Given the description of an element on the screen output the (x, y) to click on. 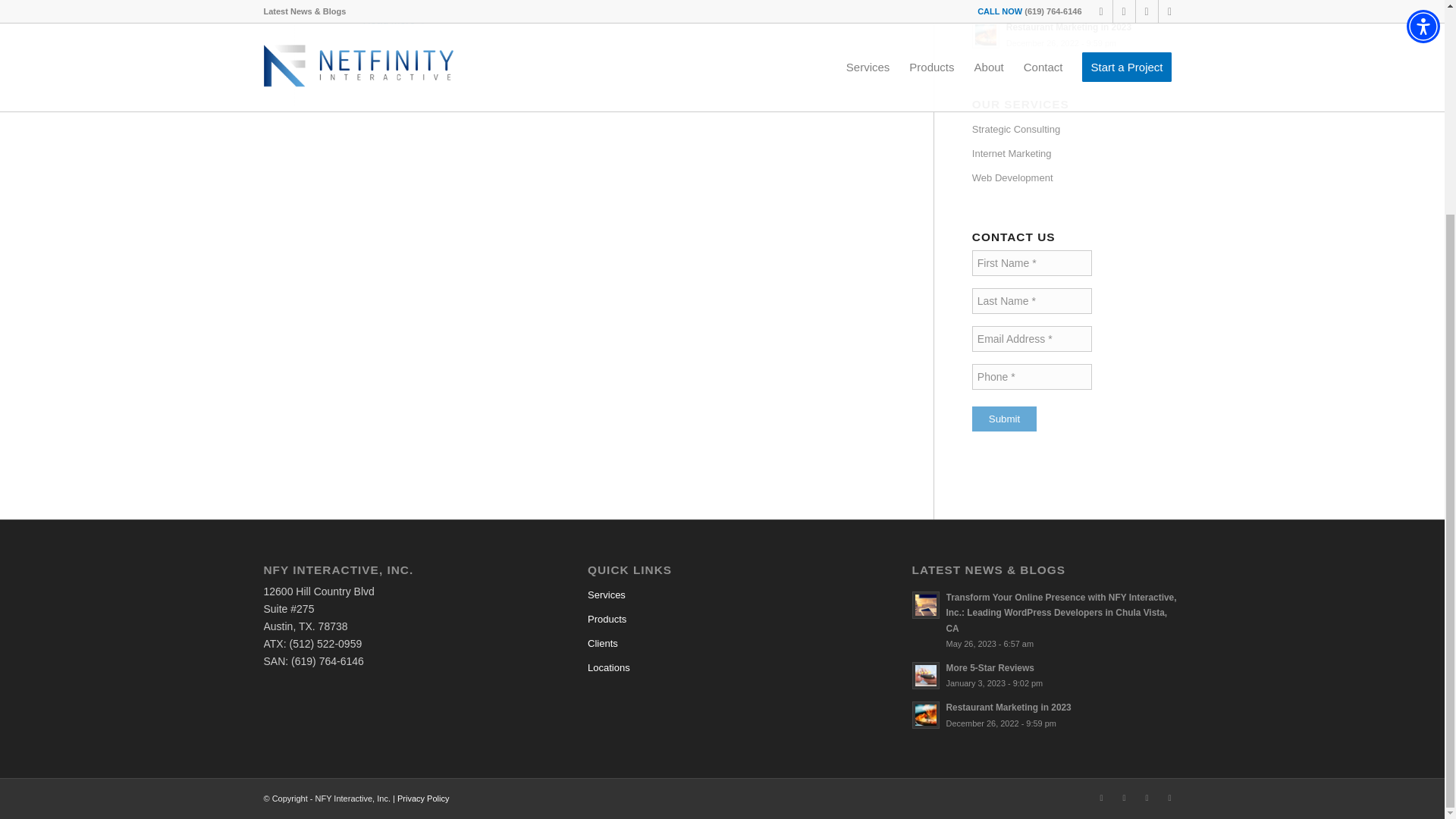
Web Development (1076, 178)
Submit (1004, 418)
Internet Marketing (1076, 153)
Read more (1046, 675)
Products (395, 21)
Submit (1076, 33)
More 5-Star Reviews (722, 619)
Privacy Policy (1004, 418)
Strategic Consulting (1076, 5)
Locations (422, 798)
Services (1046, 714)
